Given the description of an element on the screen output the (x, y) to click on. 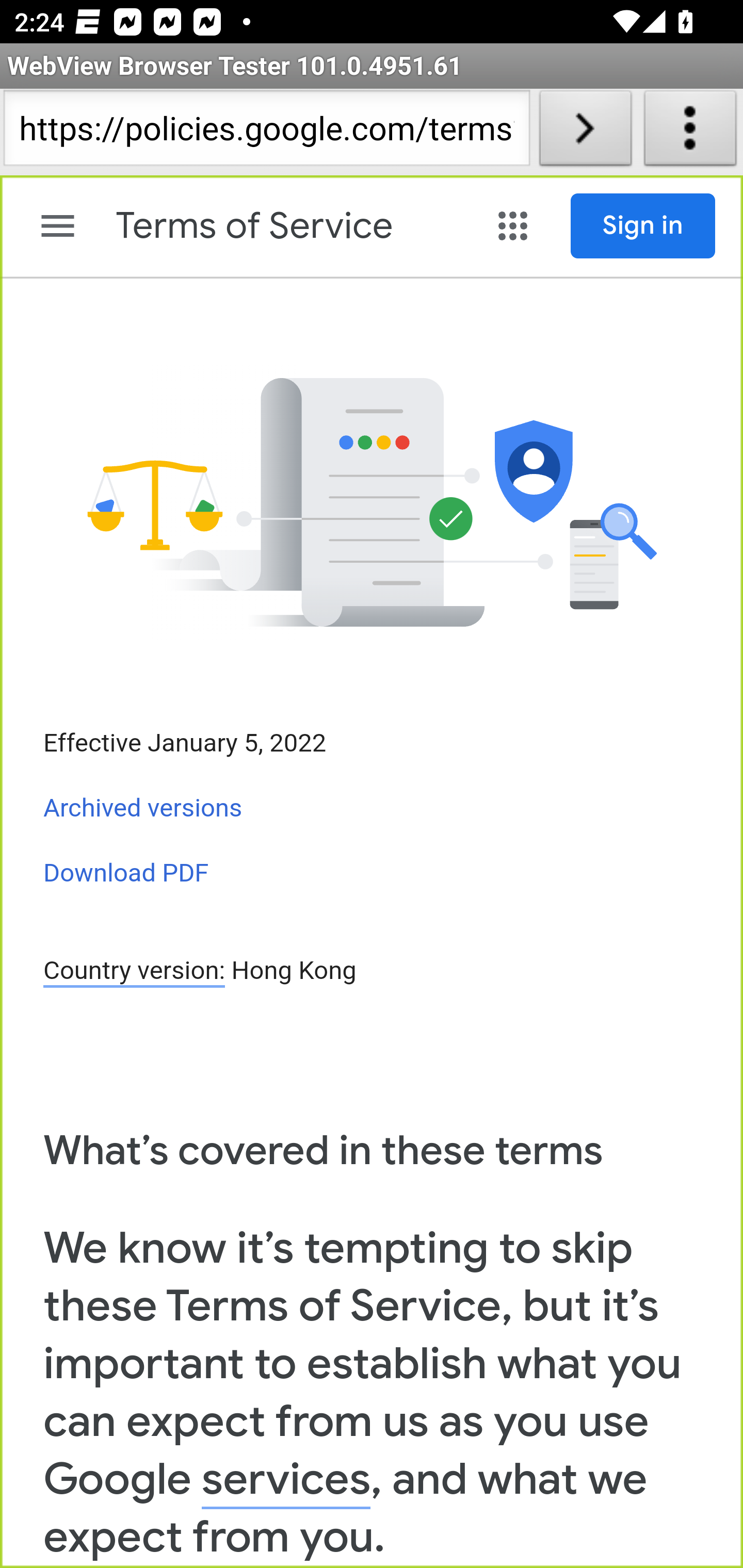
Load URL (585, 132)
About WebView (690, 132)
Main menu (58, 226)
Google apps (513, 226)
Sign in (643, 226)
Archived versions (143, 808)
Download PDF (126, 872)
Country version: (134, 971)
services (285, 1479)
